Given the description of an element on the screen output the (x, y) to click on. 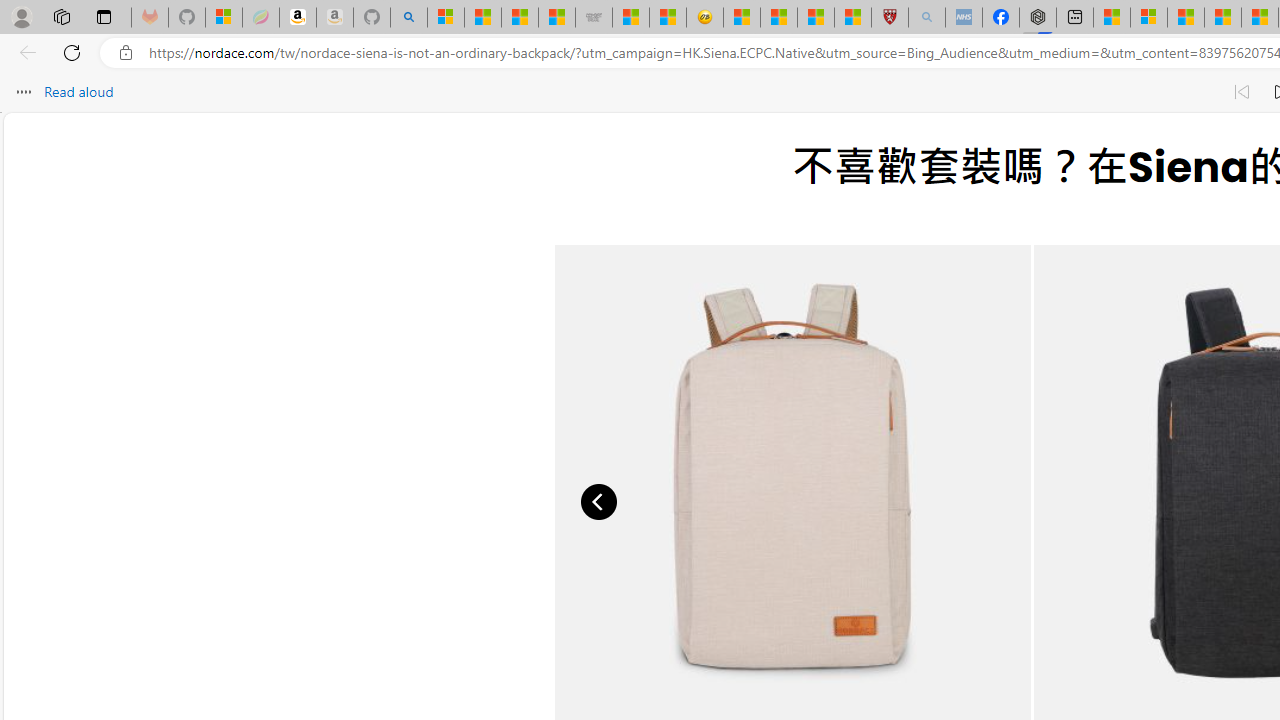
Stocks - MSN (556, 17)
Robert H. Shmerling, MD - Harvard Health (889, 17)
Science - MSN (815, 17)
Previous (599, 501)
